Given the description of an element on the screen output the (x, y) to click on. 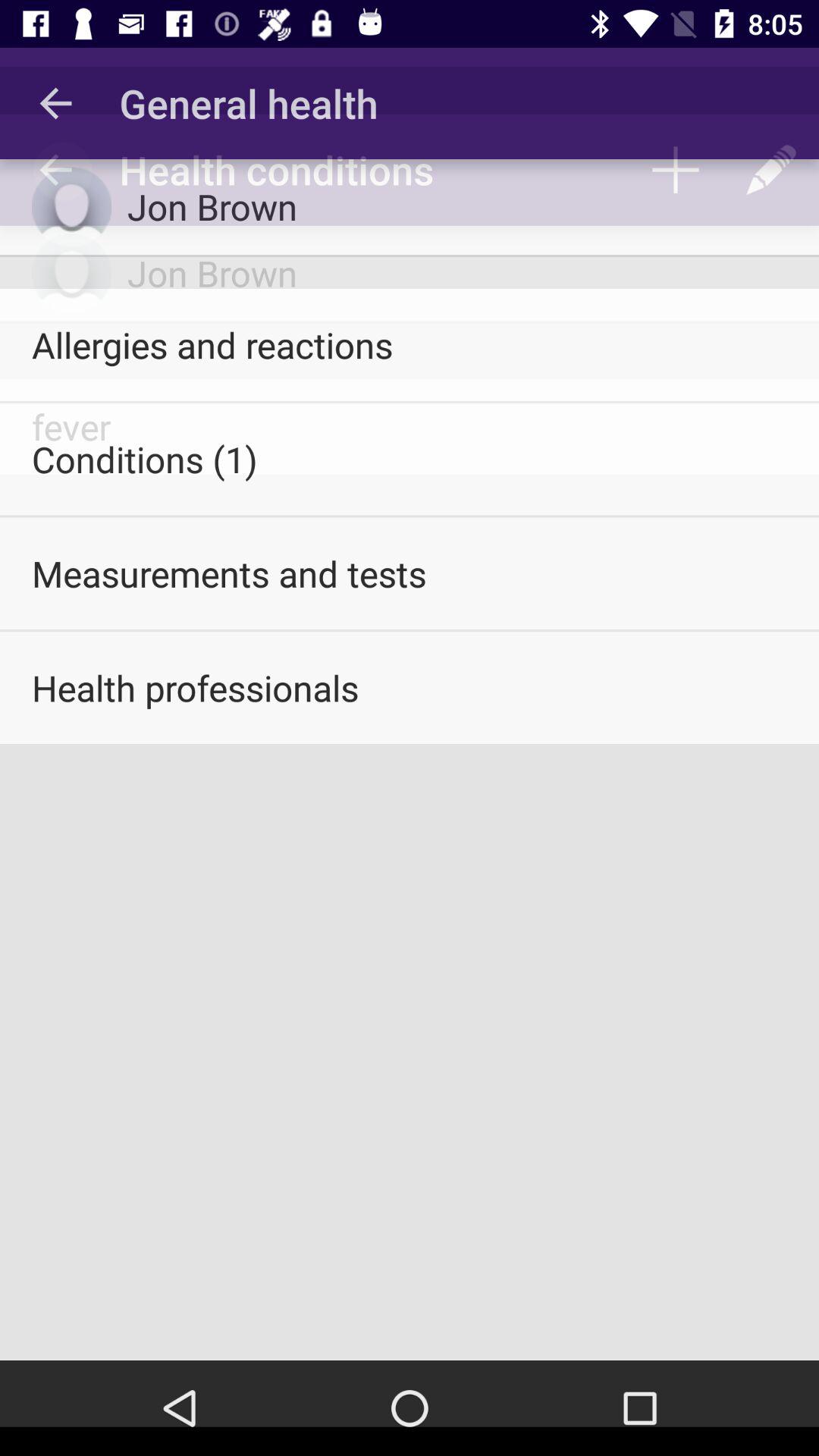
scroll to conditions (1) (409, 459)
